Given the description of an element on the screen output the (x, y) to click on. 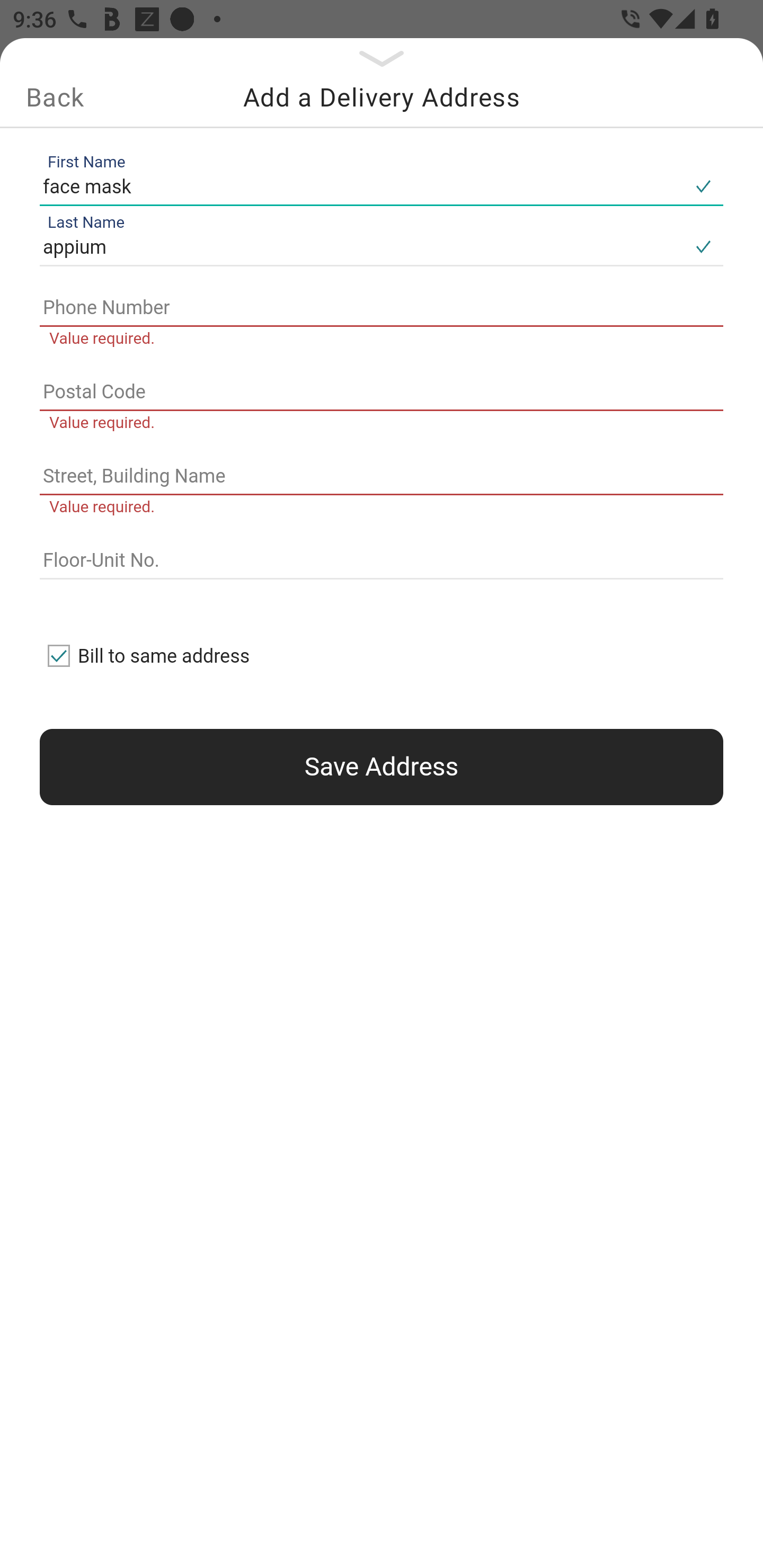
Back (54, 96)
Add a Delivery Address (381, 96)
face mask (361, 186)
appium (361, 247)
Save Address (381, 767)
